Given the description of an element on the screen output the (x, y) to click on. 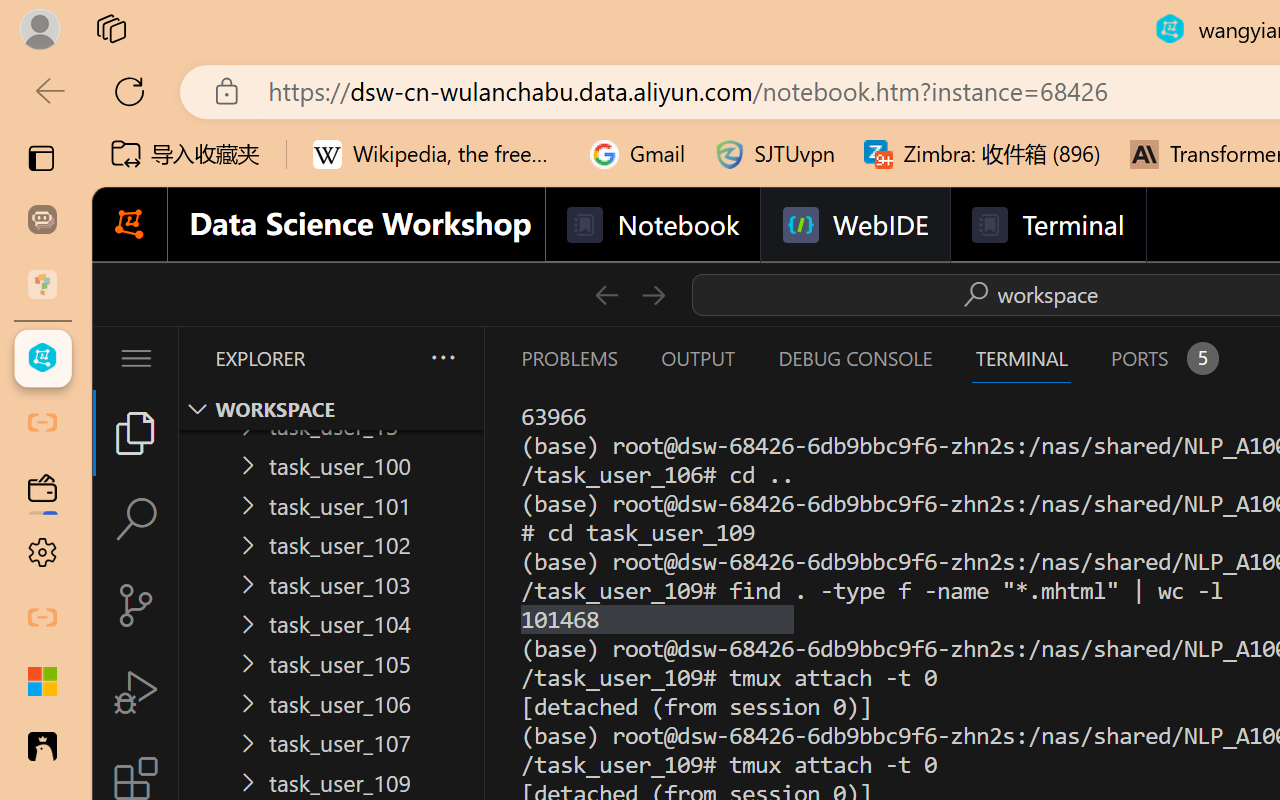
Gmail (637, 154)
Microsoft security help and learning (42, 681)
Run and Debug (Ctrl+Shift+D) (135, 692)
Terminal (Ctrl+`) (1021, 358)
Search (Ctrl+Shift+F) (135, 519)
Explorer actions (390, 358)
Notebook (652, 225)
